Given the description of an element on the screen output the (x, y) to click on. 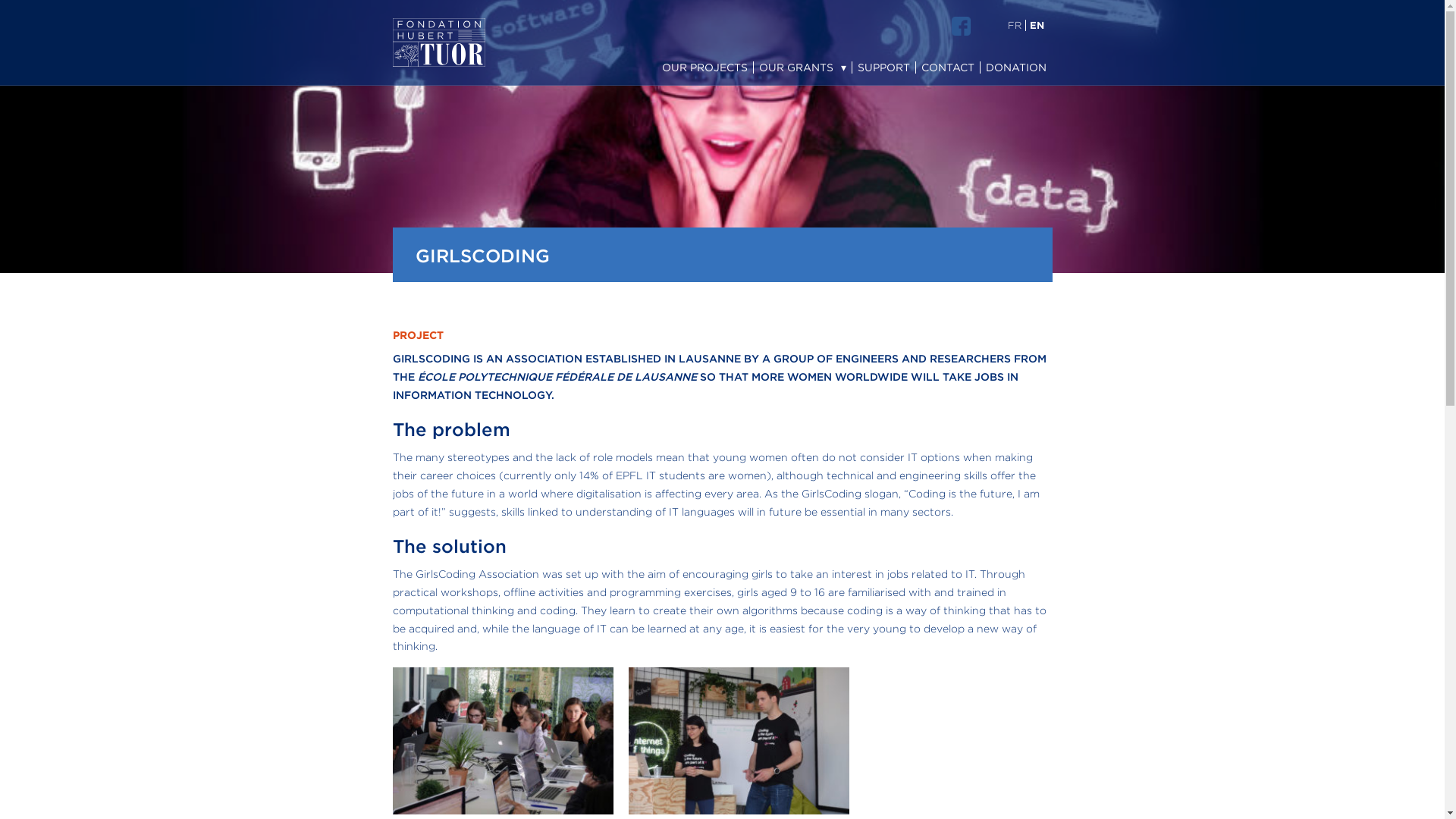
OUR PROJECTS (704, 67)
OUR GRANTS (802, 67)
DONATION (1015, 67)
FR (1014, 25)
SUPPORT (883, 67)
CONTACT (947, 67)
